Given the description of an element on the screen output the (x, y) to click on. 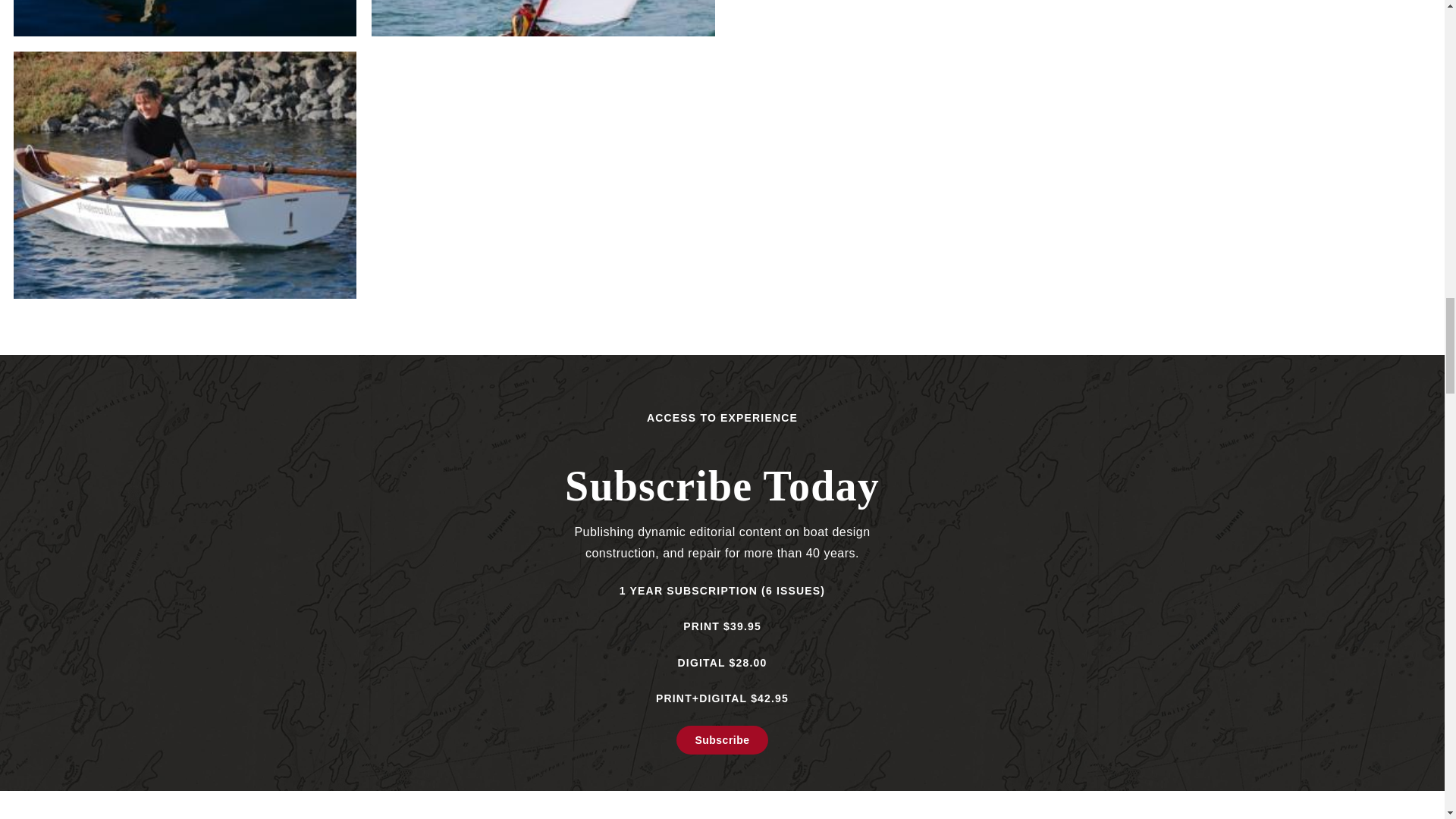
The PT 11 rows and sails very well! (542, 18)
PT 11 nesting dinghy from PT Watercraft (184, 18)
PT 11 nesting dinghy designed with serious cruising in mind. (900, 18)
PT 11 nesting dinghy with its modern lines, sold as a kit (184, 174)
